Given the description of an element on the screen output the (x, y) to click on. 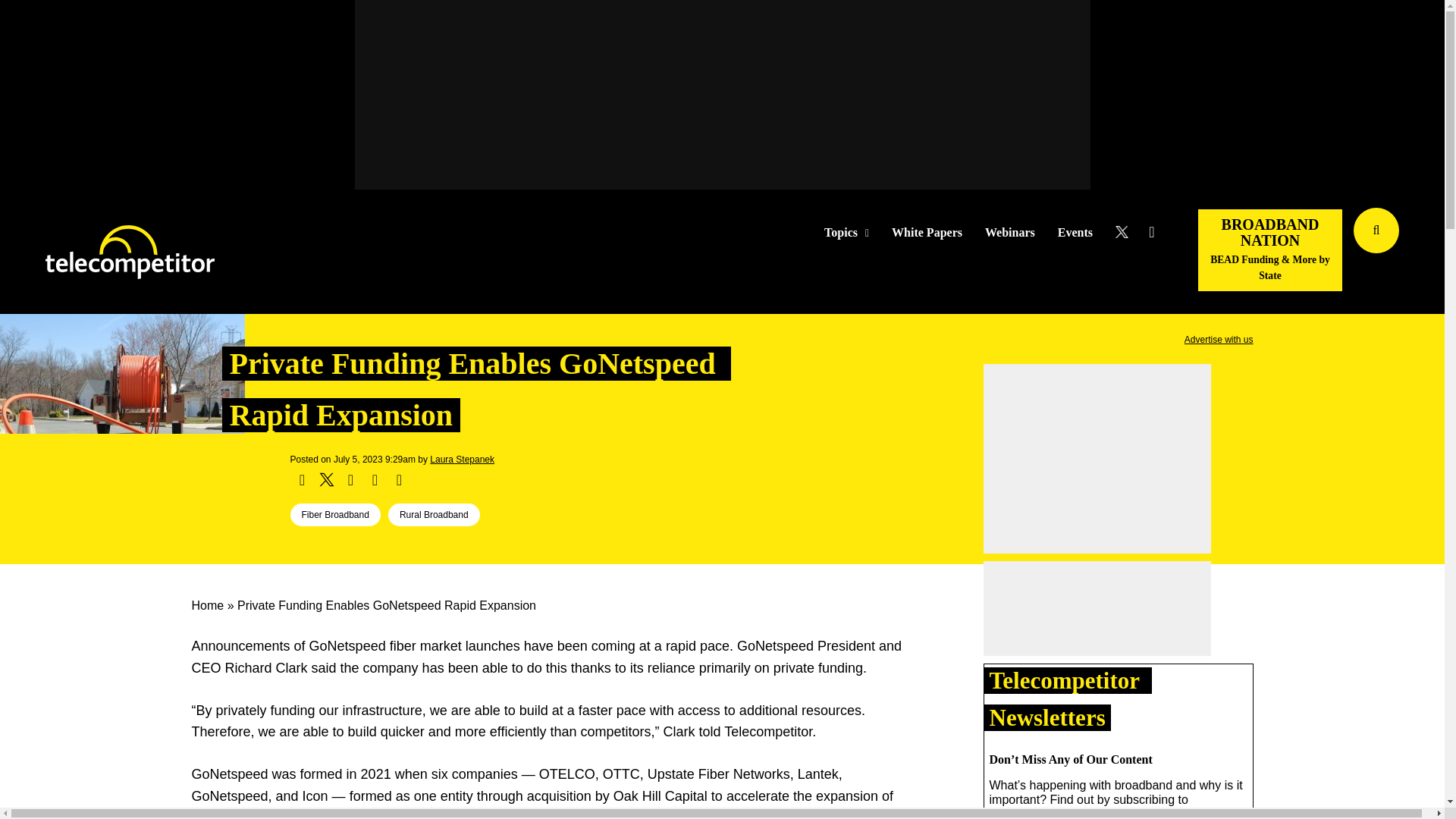
Events (1074, 232)
Follow Us on LinkedIN (1151, 232)
Topics (846, 232)
White Papers (927, 232)
Search telecompetitor.com (1376, 230)
Webinars (1010, 232)
Share on Facebook (301, 479)
Share on Linked In (349, 479)
Spread the word on Twitter (325, 479)
Search (1430, 253)
